Given the description of an element on the screen output the (x, y) to click on. 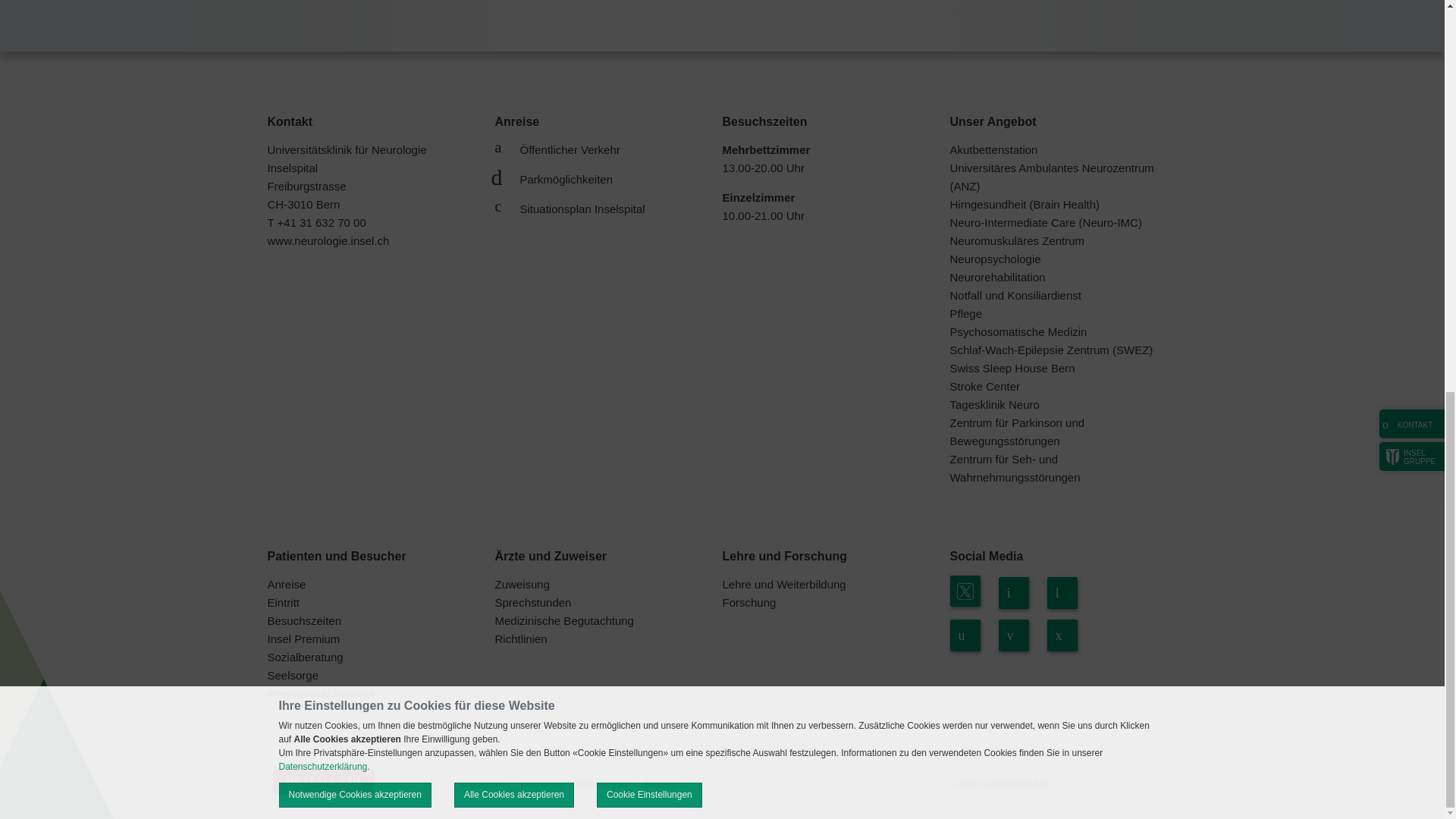
Pflege (965, 313)
Notfall und Konsiliardienst (1014, 295)
Tagesklinik Neuro (994, 404)
Swiss Sleep House Bern (1011, 367)
Psychosomatische Medizin (1017, 331)
Stroke Center (984, 386)
Neuropsychologie (995, 258)
Unser Angebot (992, 121)
Neurorehabilitation (997, 277)
Akutbettenstation (992, 149)
